Given the description of an element on the screen output the (x, y) to click on. 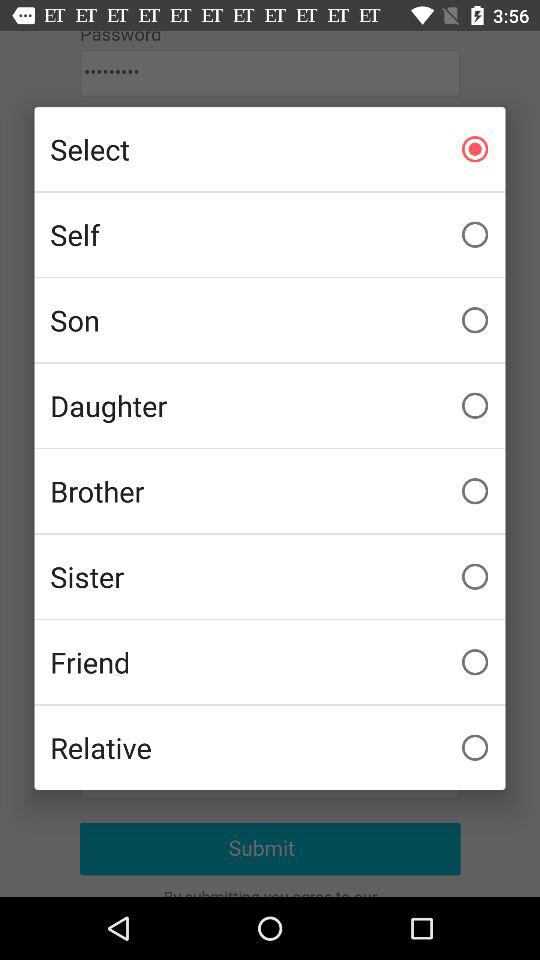
turn off the checkbox below sister (269, 662)
